Given the description of an element on the screen output the (x, y) to click on. 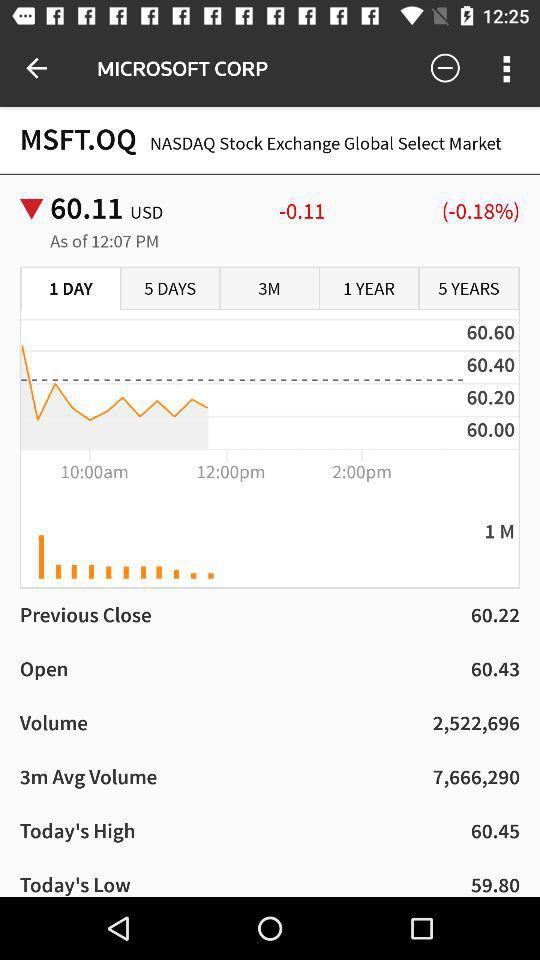
jump until the 5 years (468, 289)
